Given the description of an element on the screen output the (x, y) to click on. 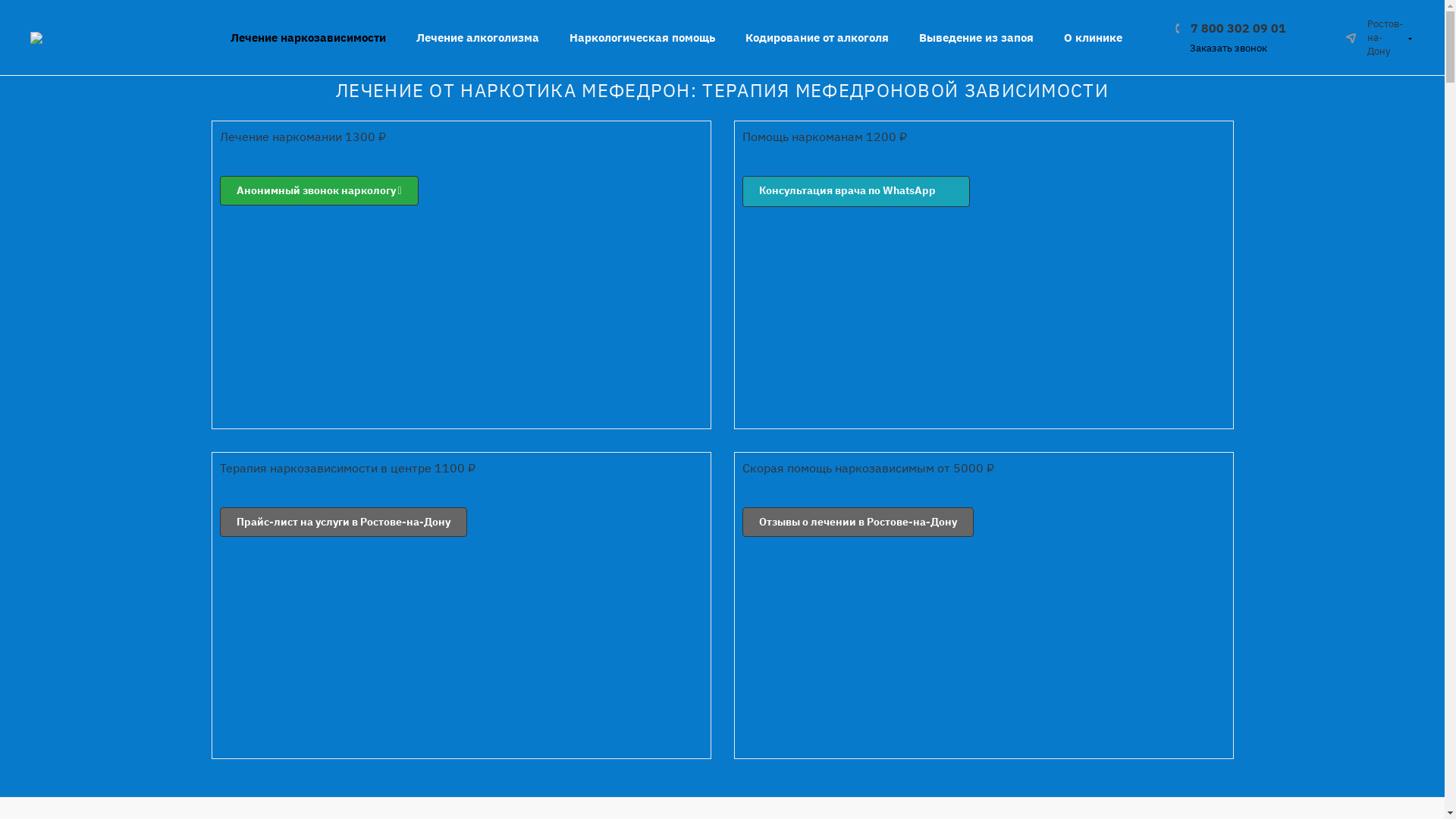
7 800 302 09 01 Element type: text (1230, 26)
